Given the description of an element on the screen output the (x, y) to click on. 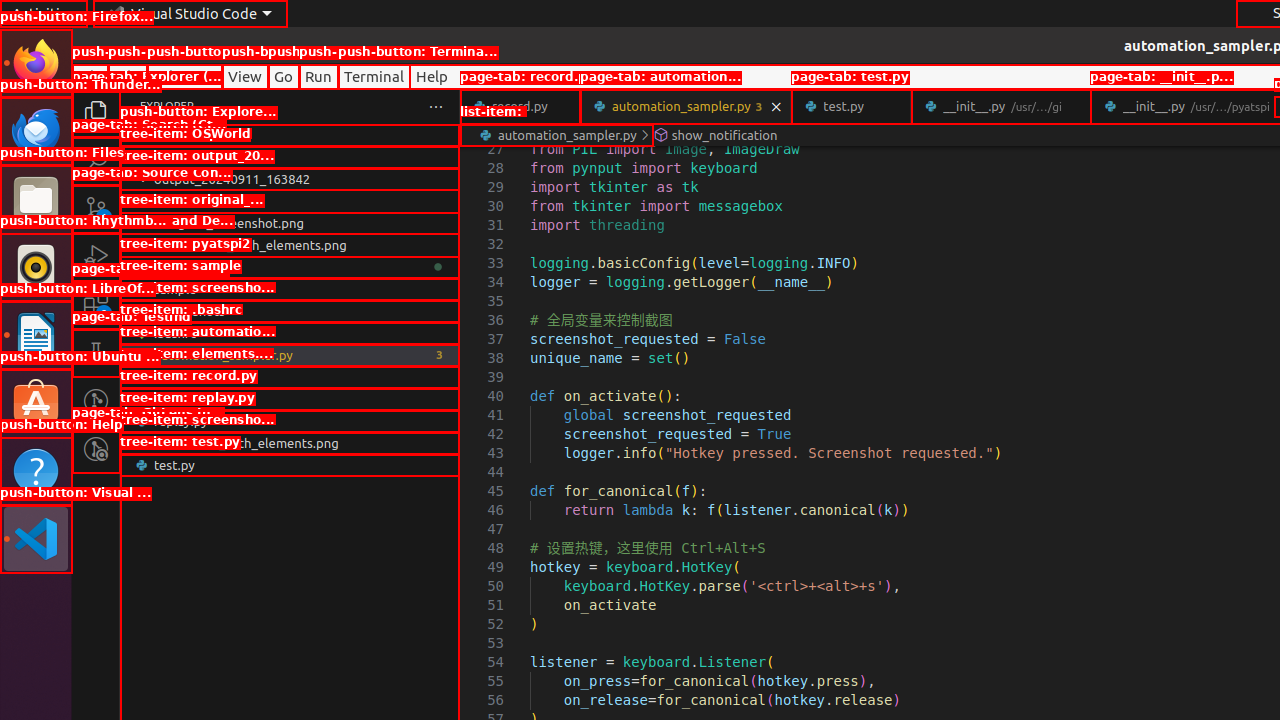
Run and Debug (Ctrl+Shift+D) Element type: page-tab (96, 257)
original_screenshot.png Element type: tree-item (289, 223)
screenshot_with_elements.png Element type: tree-item (289, 443)
